Given the description of an element on the screen output the (x, y) to click on. 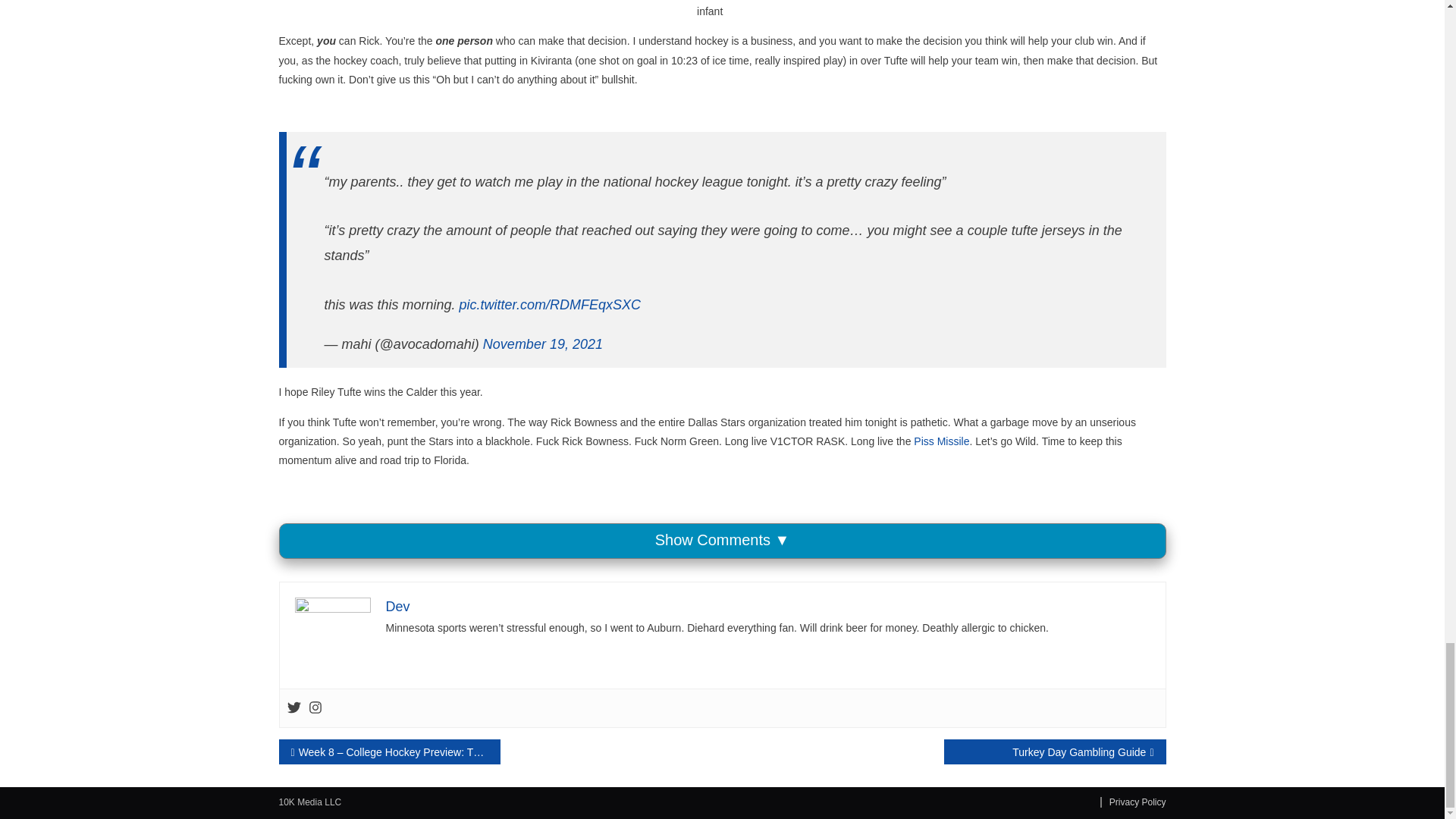
Instagram (314, 708)
Twitter (292, 708)
